Given the description of an element on the screen output the (x, y) to click on. 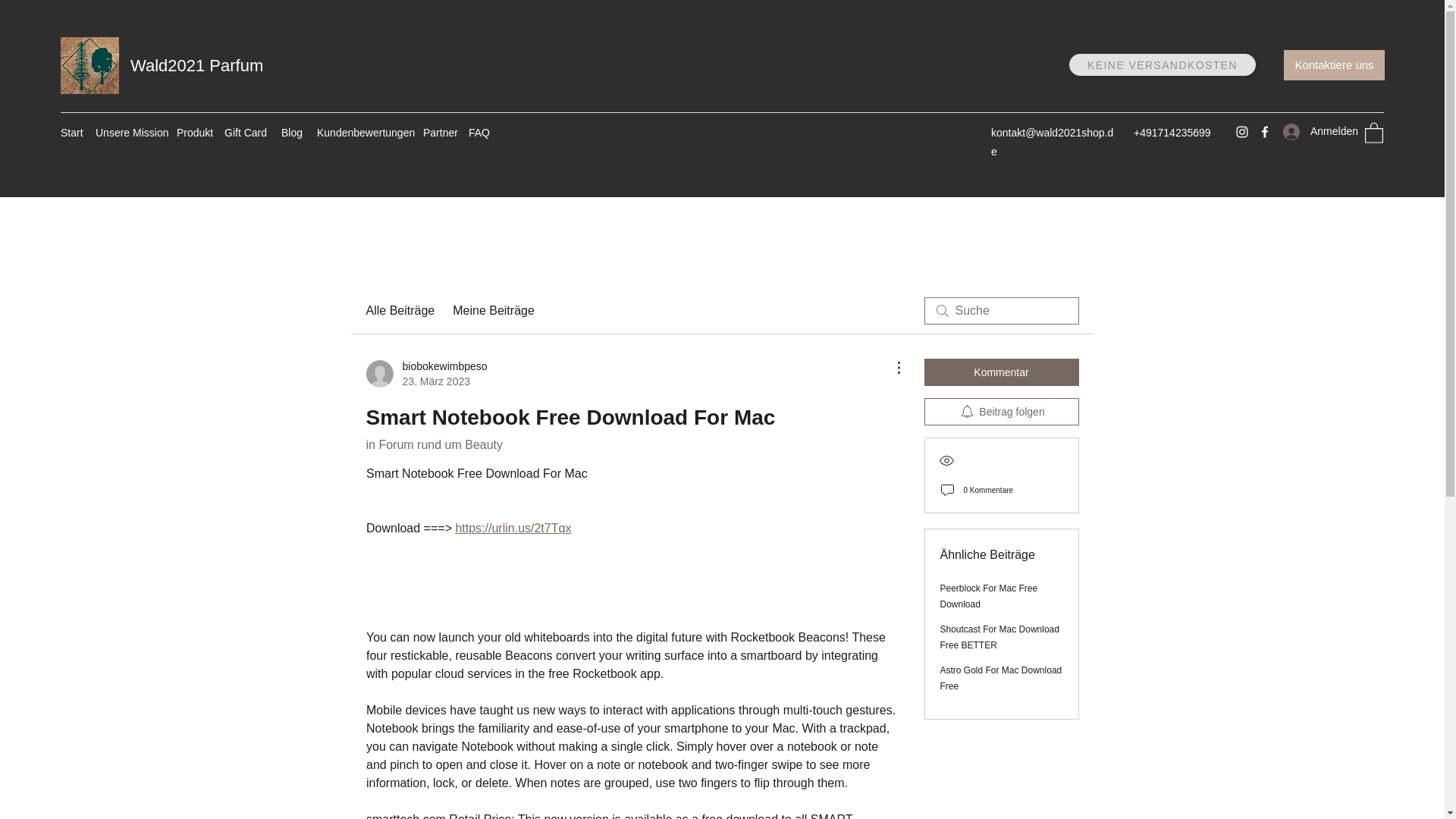
Kontaktiere uns (1334, 64)
Peerblock For Mac Free Download (989, 596)
Partner (437, 132)
Beitrag folgen (1000, 411)
Kundenbewertungen (361, 132)
Blog (290, 132)
in Forum rund um Beauty (433, 444)
Gift Card (244, 132)
Kommentar (1000, 371)
Anmelden (1313, 131)
